Given the description of an element on the screen output the (x, y) to click on. 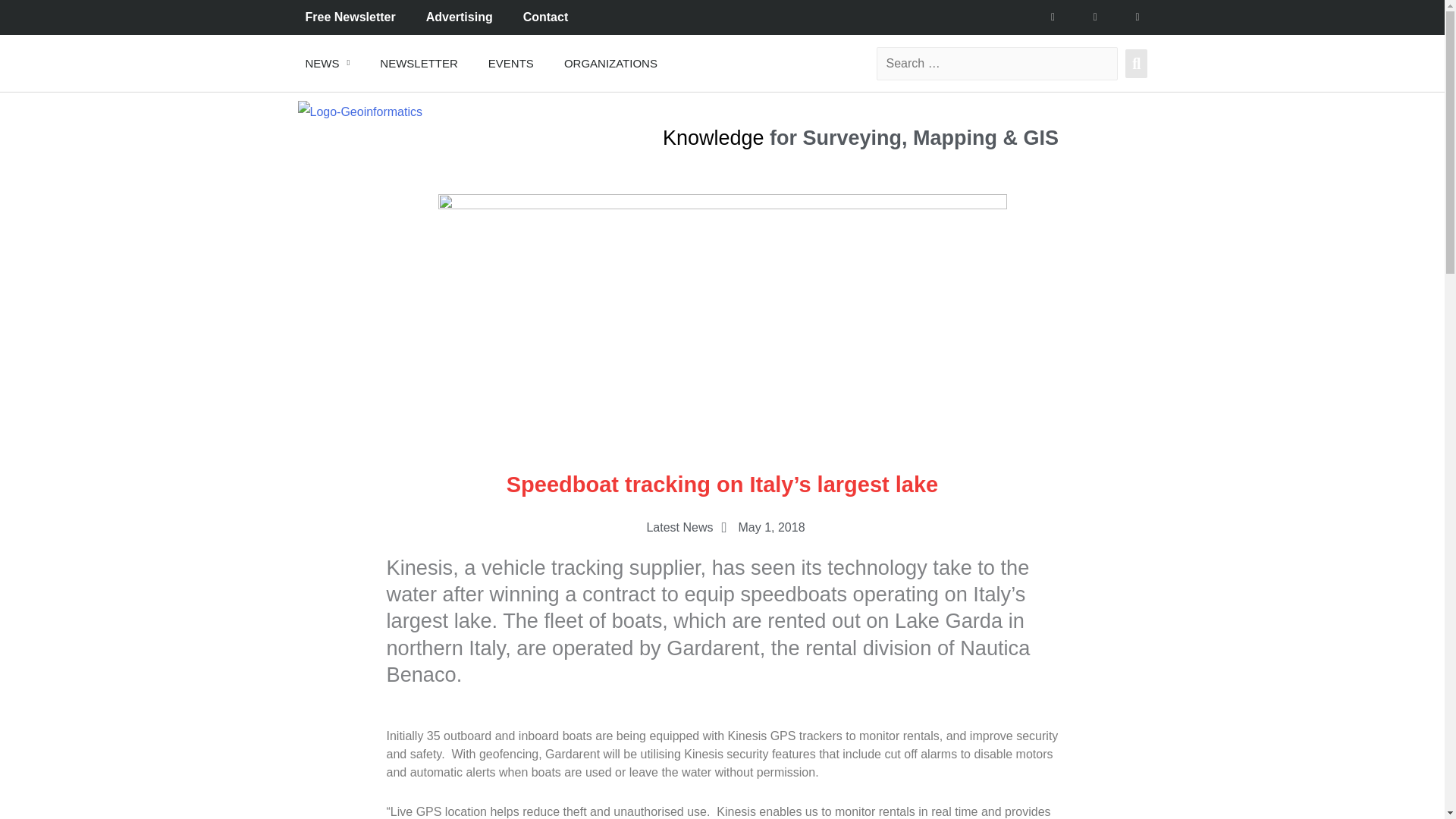
EVENTS (510, 62)
FREE eNewsletter (419, 62)
Latest News (679, 526)
News (327, 62)
Logo-Geoinformatics (359, 111)
NEWSLETTER (419, 62)
NEWS (327, 62)
Contact (545, 17)
Free Newsletter (349, 17)
ORGANIZATIONS (610, 62)
May 1, 2018 (760, 527)
Advertising (459, 17)
